Given the description of an element on the screen output the (x, y) to click on. 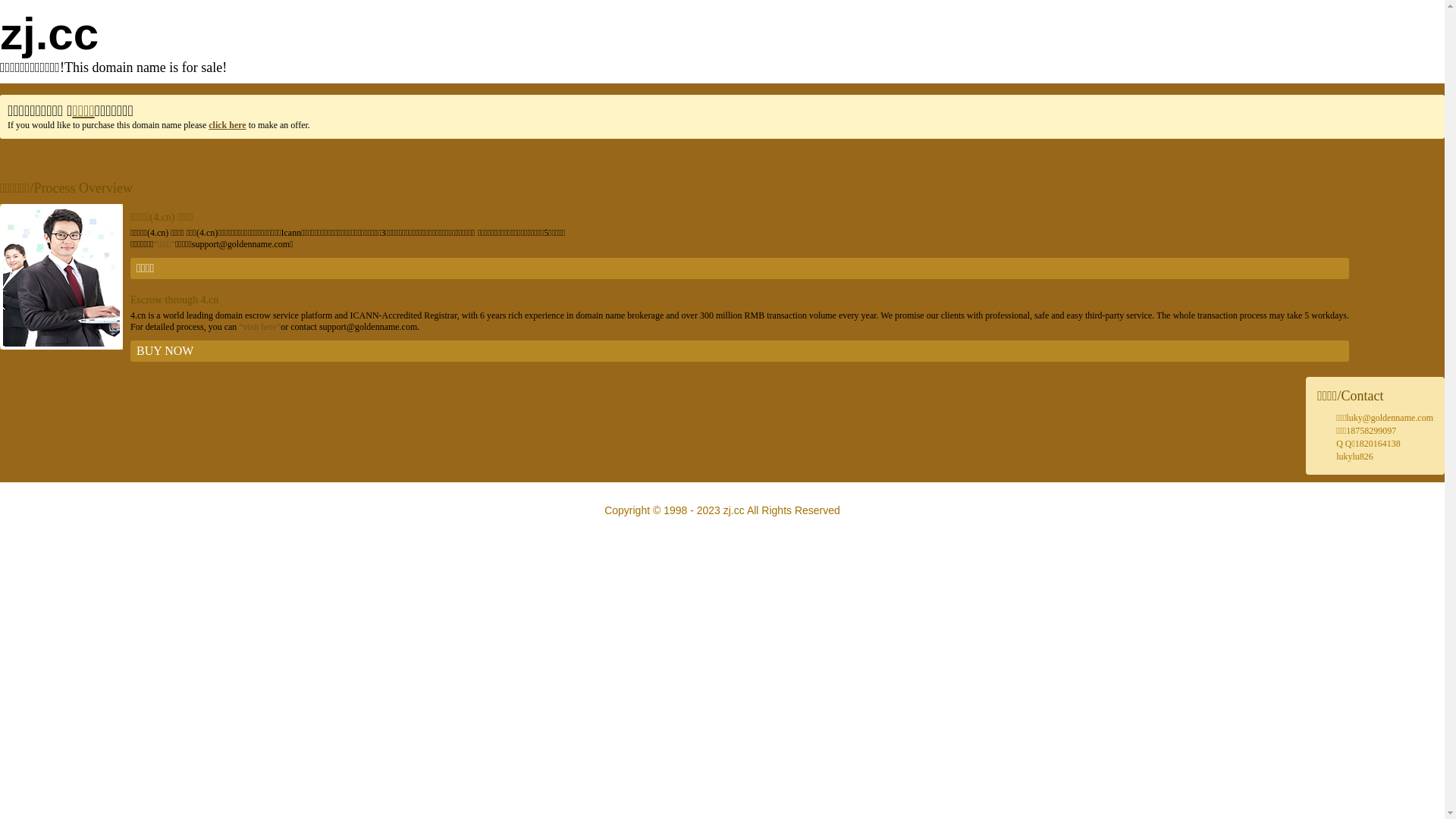
click here Element type: text (226, 124)
BUY NOW Element type: text (739, 350)
